Given the description of an element on the screen output the (x, y) to click on. 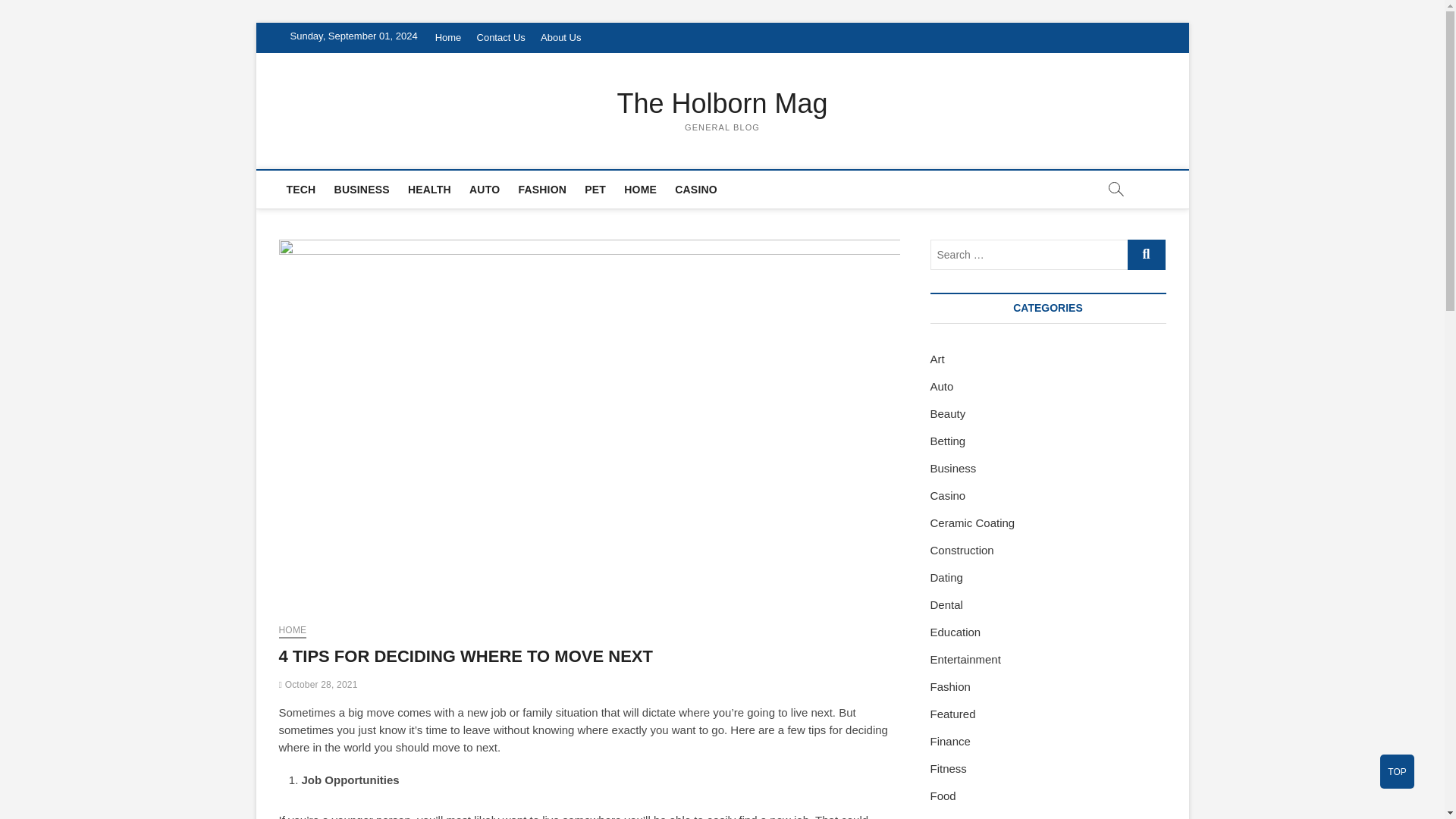
FASHION (542, 189)
Dating (946, 576)
October 28, 2021 (318, 684)
Business (952, 468)
Construction (961, 549)
Dental (946, 604)
HEALTH (429, 189)
The Holborn Mag (722, 103)
October 28, 2021 (318, 684)
About Us (560, 37)
